Given the description of an element on the screen output the (x, y) to click on. 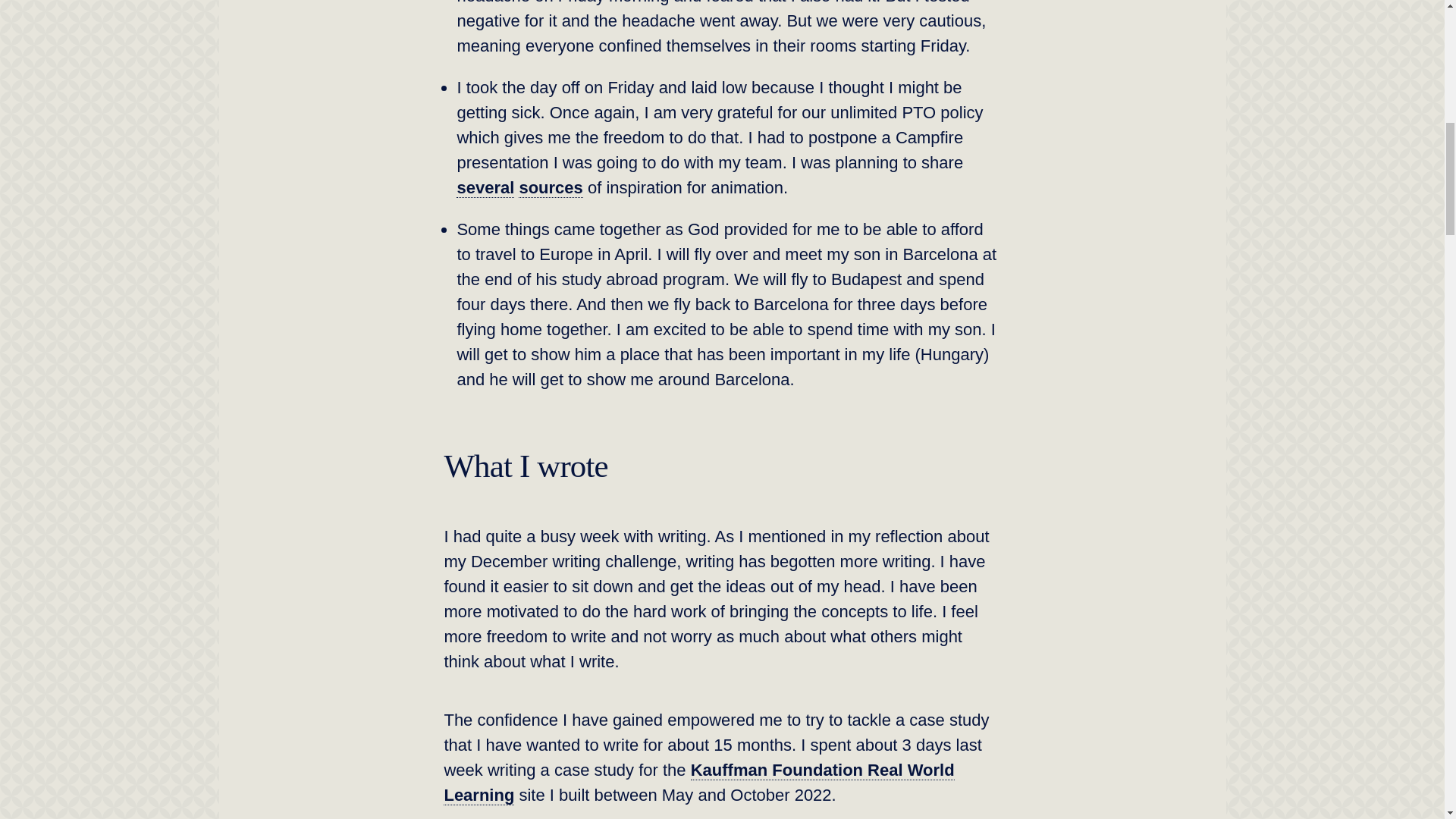
sources (550, 188)
several (485, 188)
Kauffman Foundation Real World Learning (698, 782)
